Given the description of an element on the screen output the (x, y) to click on. 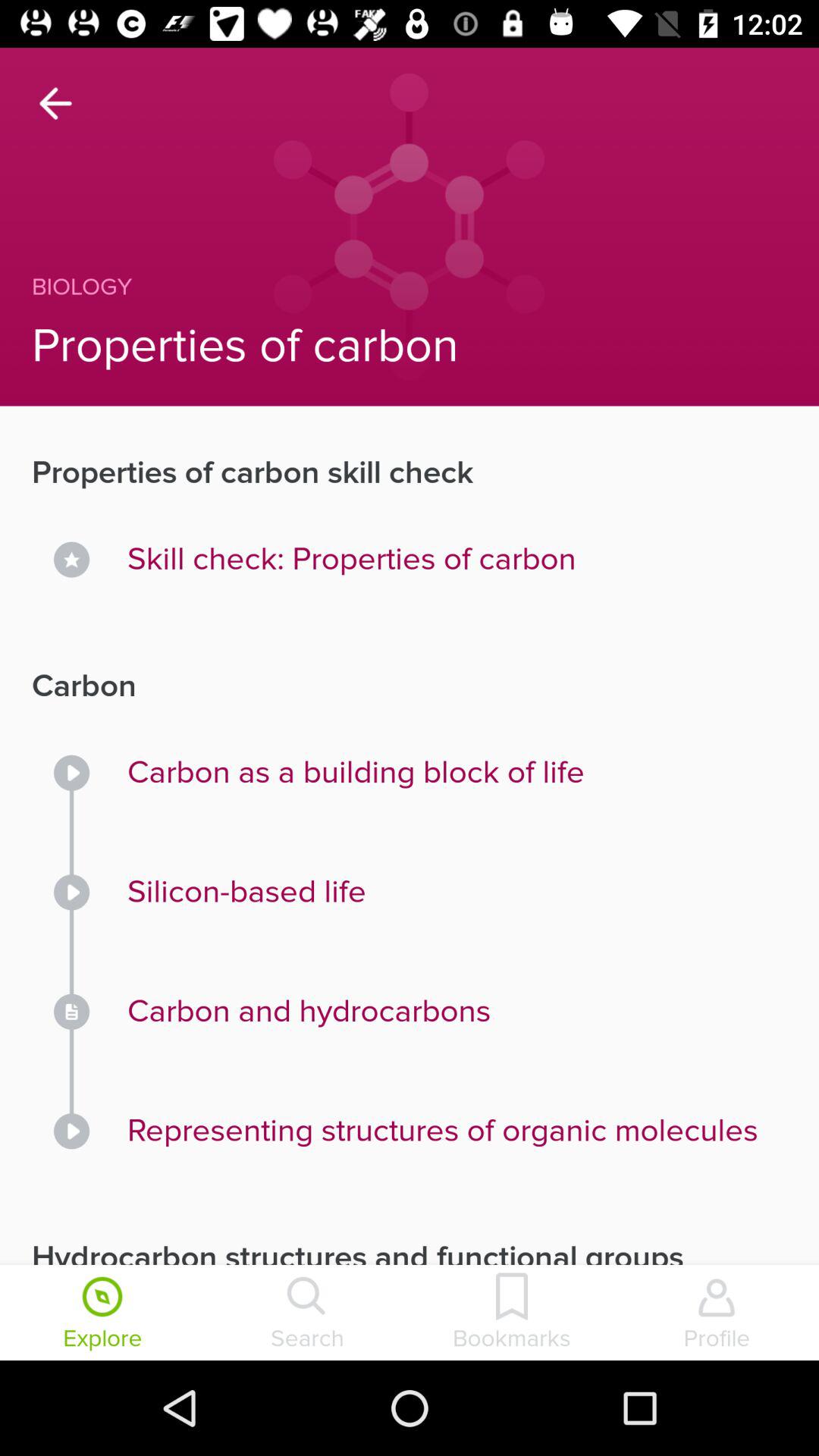
swipe until explore (102, 1314)
